Given the description of an element on the screen output the (x, y) to click on. 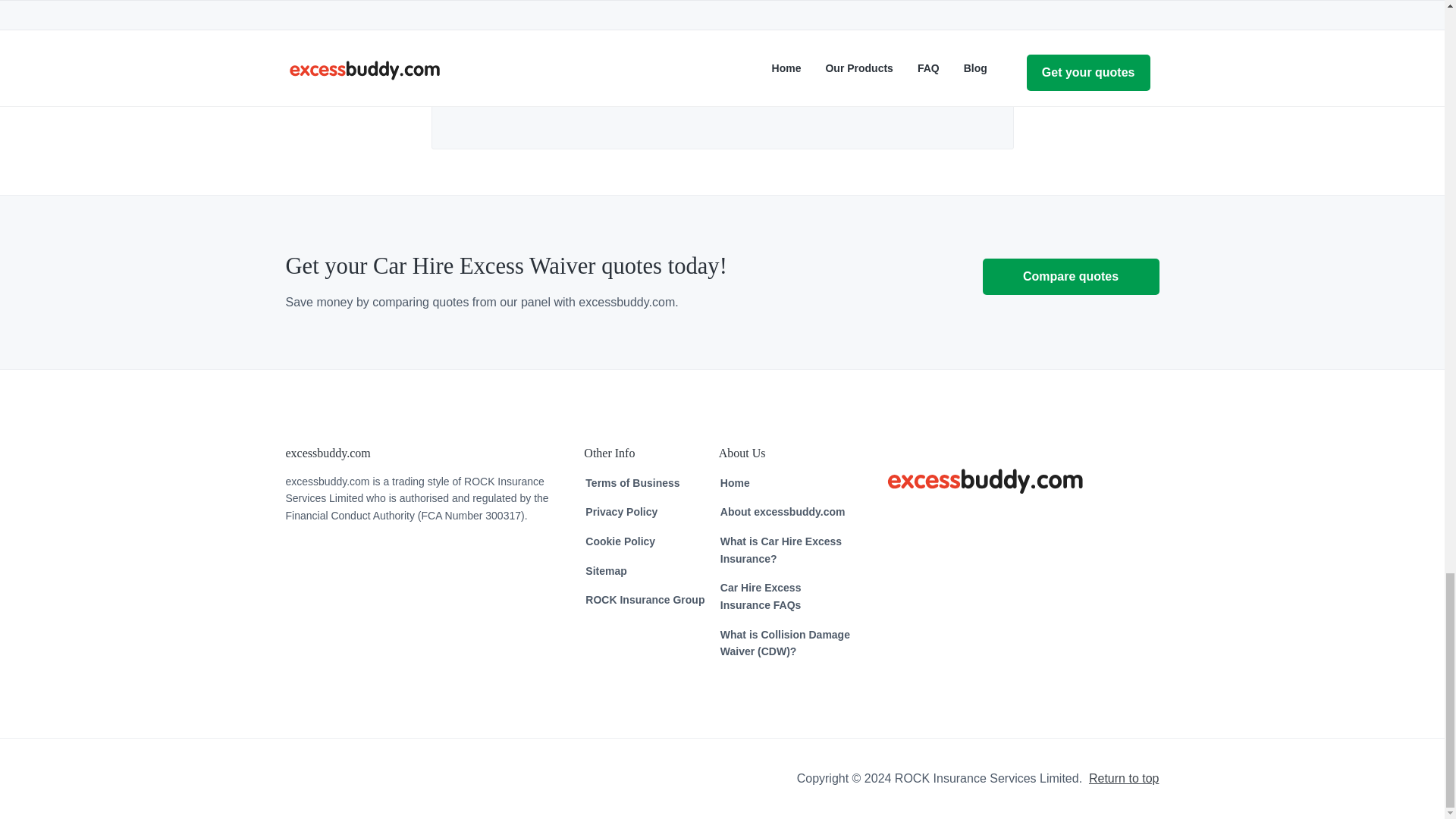
ROCK Insurance Group (644, 600)
Subscribe (823, 72)
Privacy Policy (621, 511)
About excessbuddy.com (782, 511)
Terms of Business (632, 483)
Return to top (1123, 778)
Cookie Policy (620, 541)
Compare quotes (1070, 276)
Subscribe (823, 72)
Car Hire Excess Insurance FAQs (785, 596)
